Given the description of an element on the screen output the (x, y) to click on. 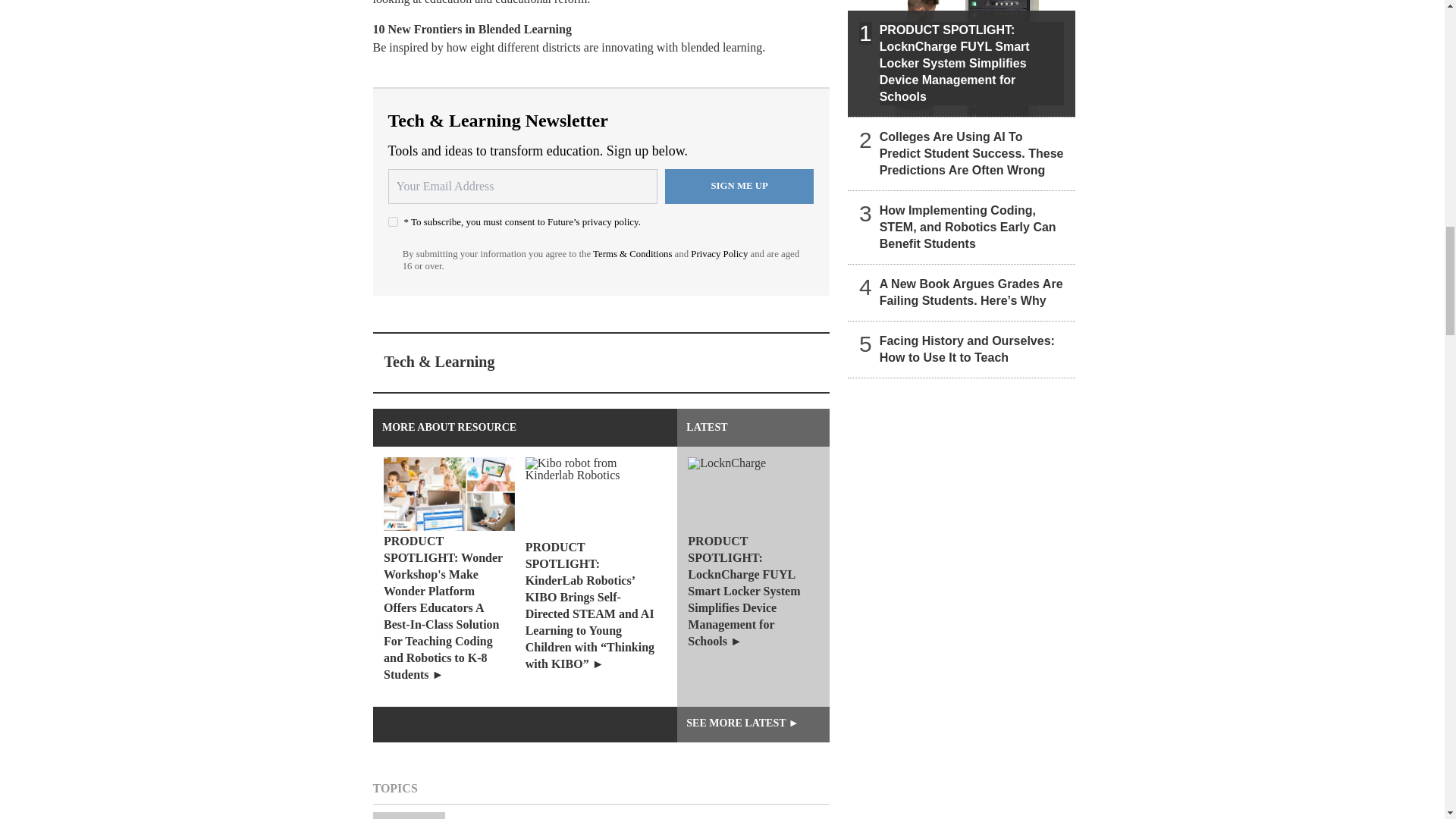
Sign me up (739, 185)
on (392, 221)
New Frontiers in Blended Learning (480, 29)
Sign me up (739, 185)
